Given the description of an element on the screen output the (x, y) to click on. 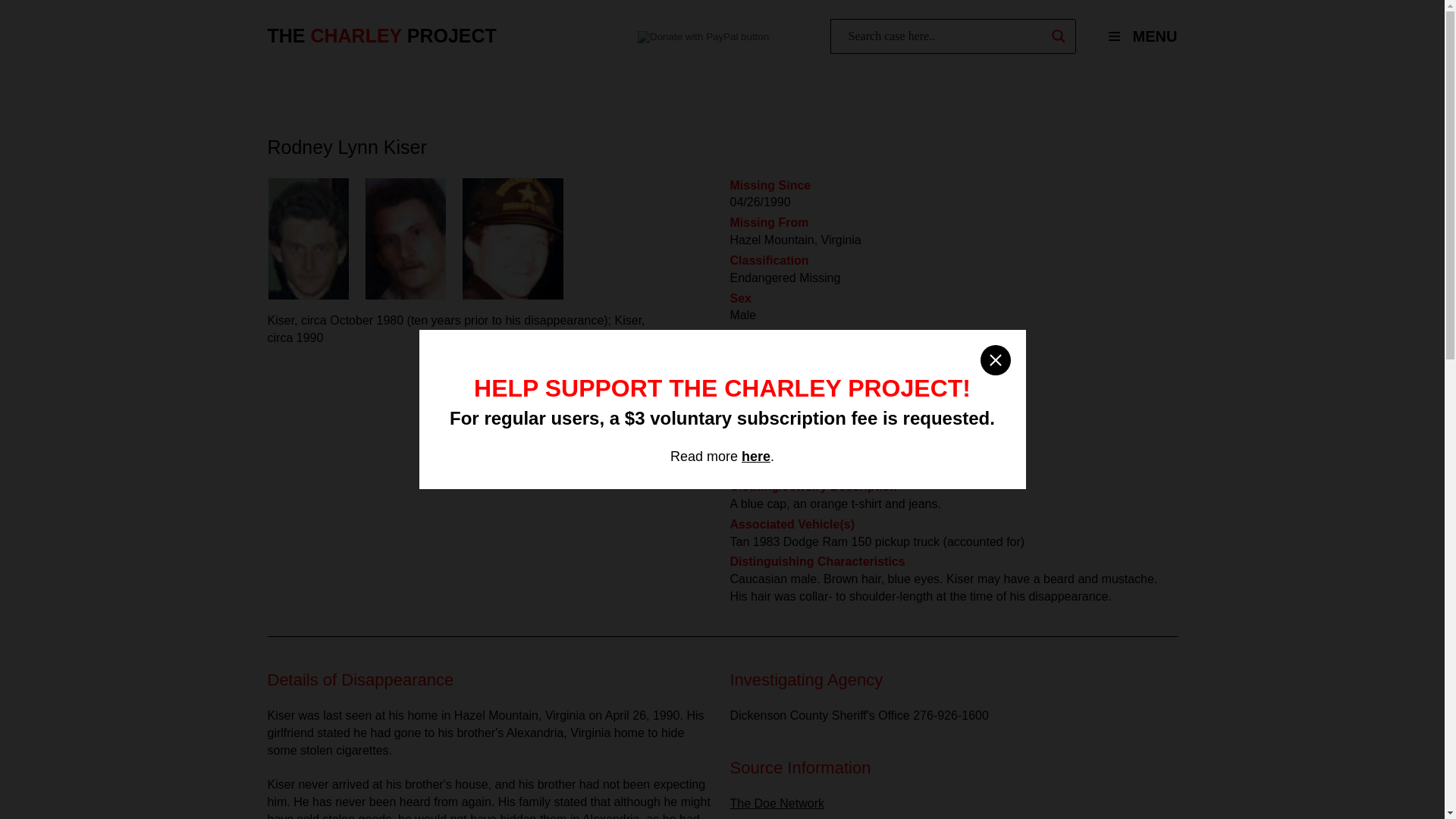
THE CHARLEY PROJECT (381, 35)
The Doe Network (776, 802)
Virginia State Police (783, 818)
MENU (1135, 36)
